Given the description of an element on the screen output the (x, y) to click on. 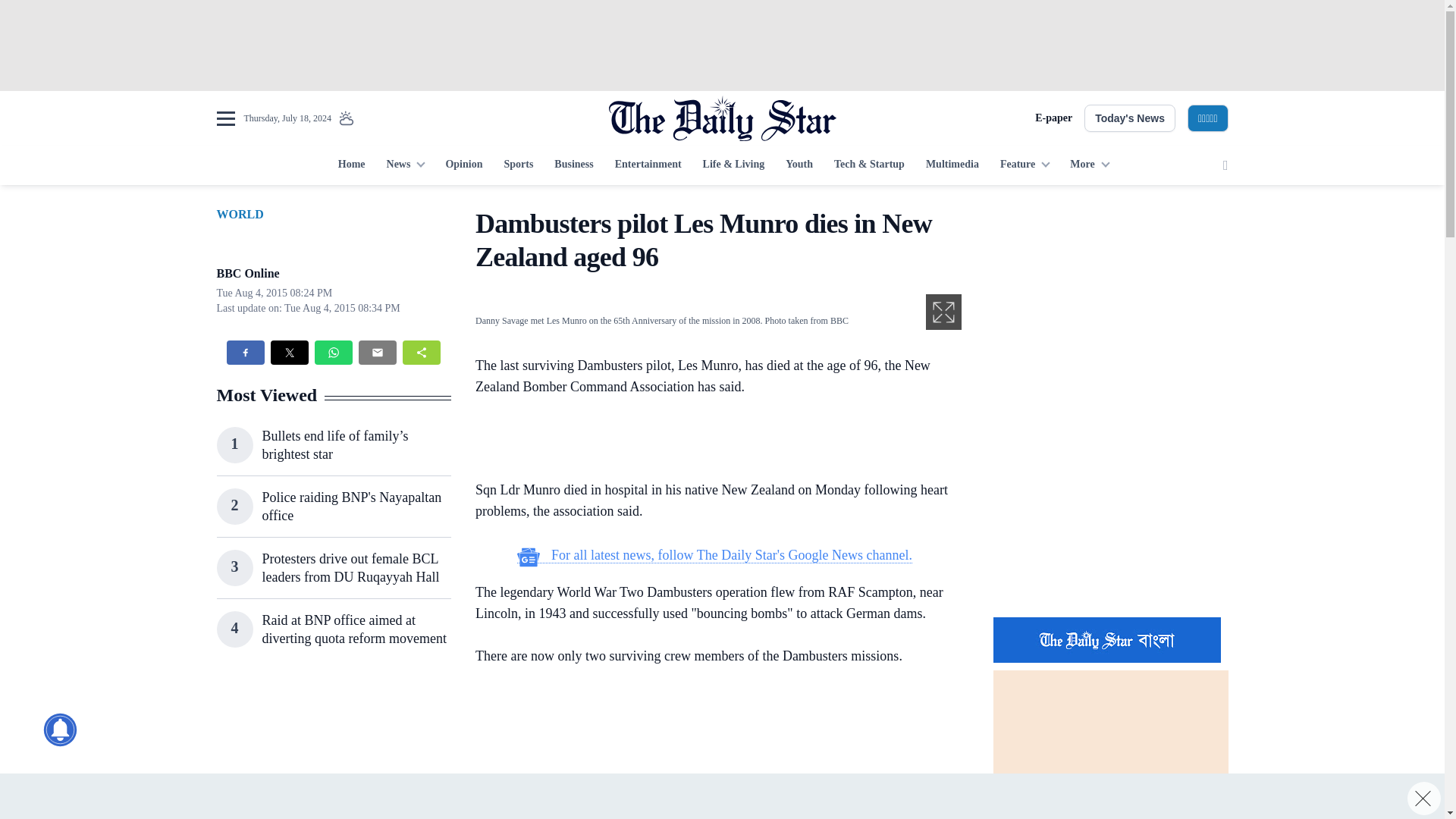
3rd party ad content (721, 796)
Sports (518, 165)
3rd party ad content (721, 45)
3rd party ad content (1110, 506)
Entertainment (647, 165)
Youth (799, 165)
Today's News (1129, 117)
E-paper (1053, 117)
Feature (1024, 165)
3rd party ad content (714, 441)
3rd party ad content (1110, 302)
News (405, 165)
Multimedia (952, 165)
Business (573, 165)
